Given the description of an element on the screen output the (x, y) to click on. 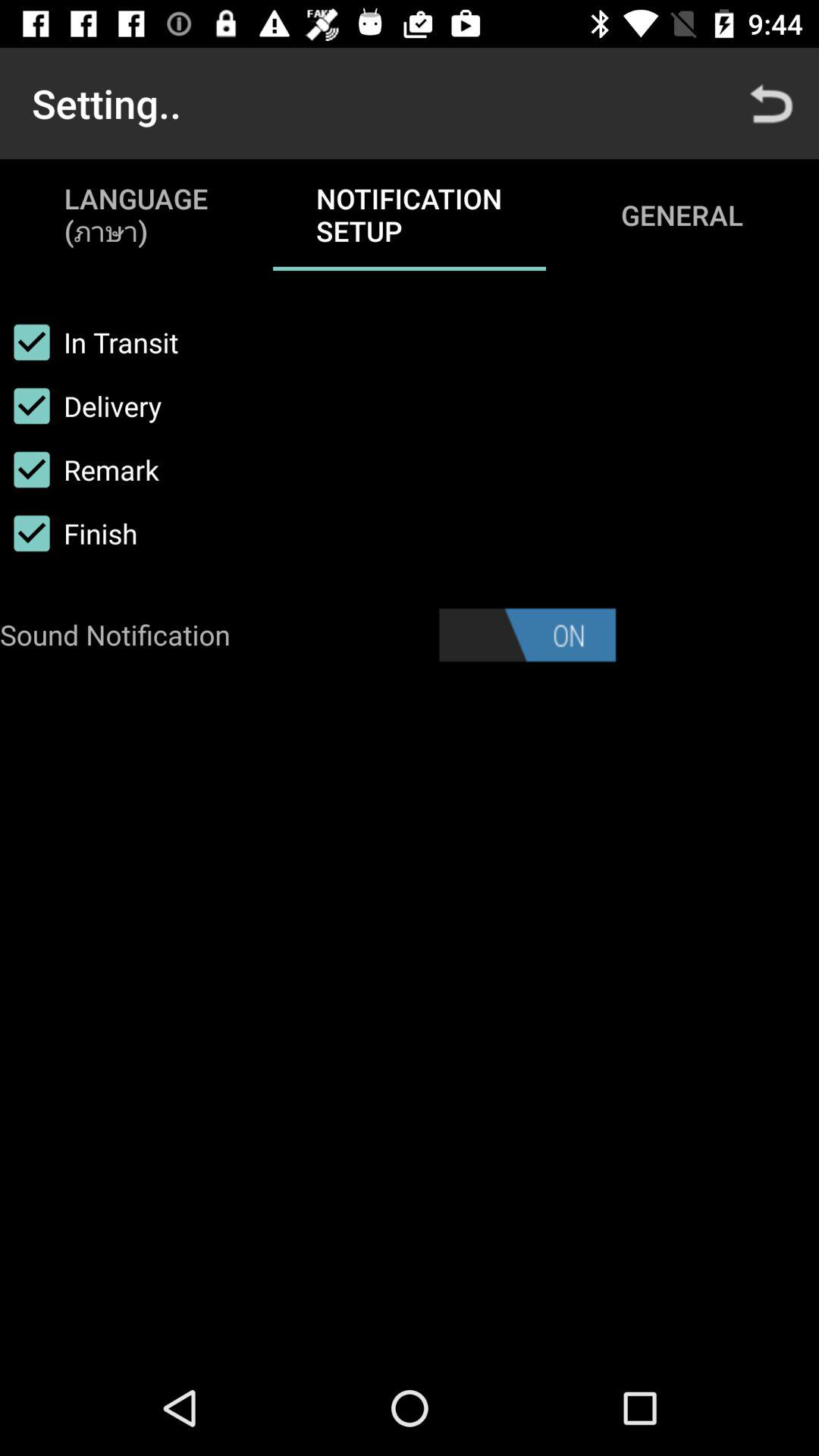
open item above finish item (79, 469)
